Given the description of an element on the screen output the (x, y) to click on. 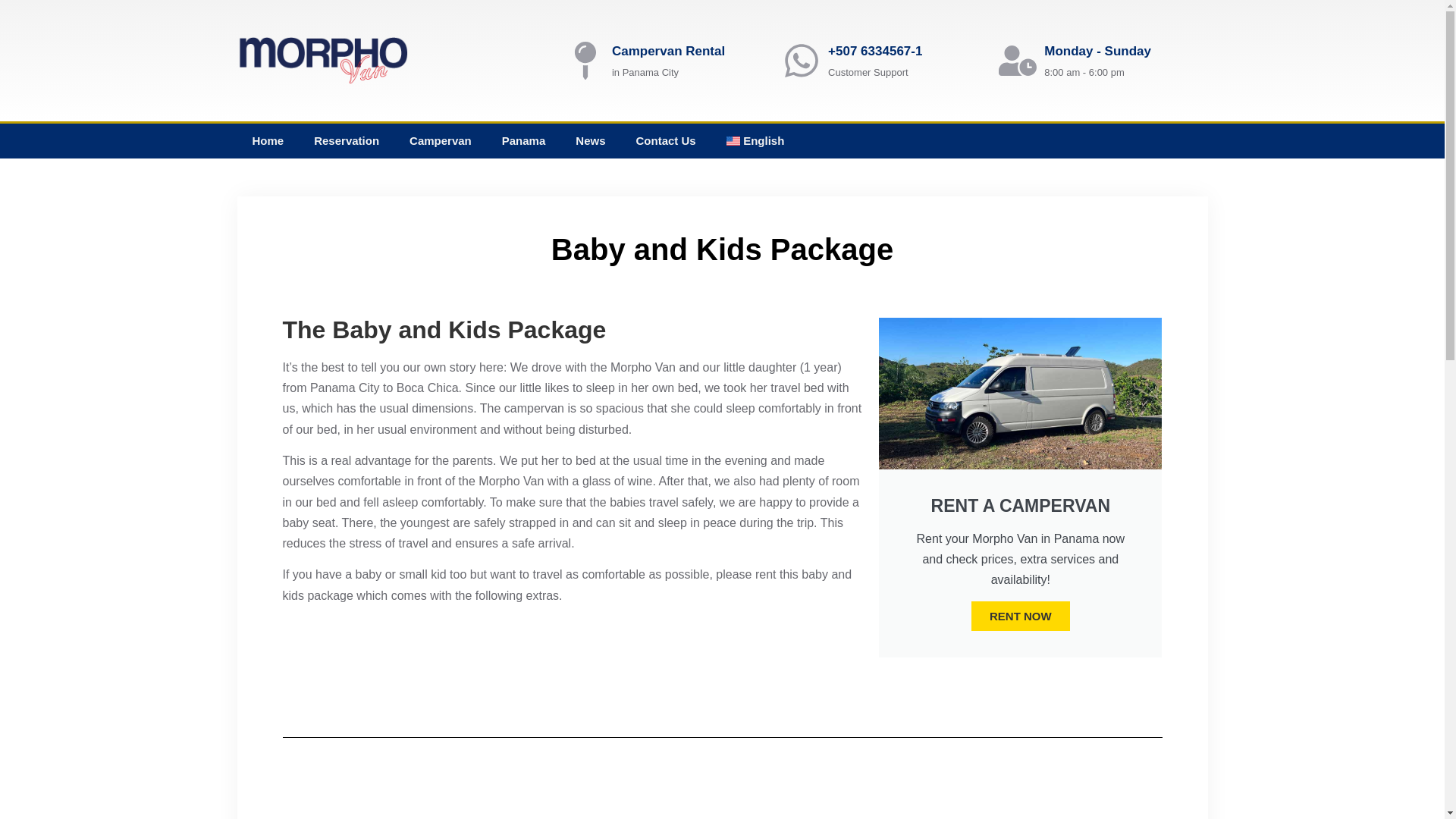
Home (266, 140)
Contact Us (665, 140)
English (755, 140)
Panama (523, 140)
Campervan (440, 140)
Reservation (346, 140)
News (590, 140)
English (755, 140)
